Given the description of an element on the screen output the (x, y) to click on. 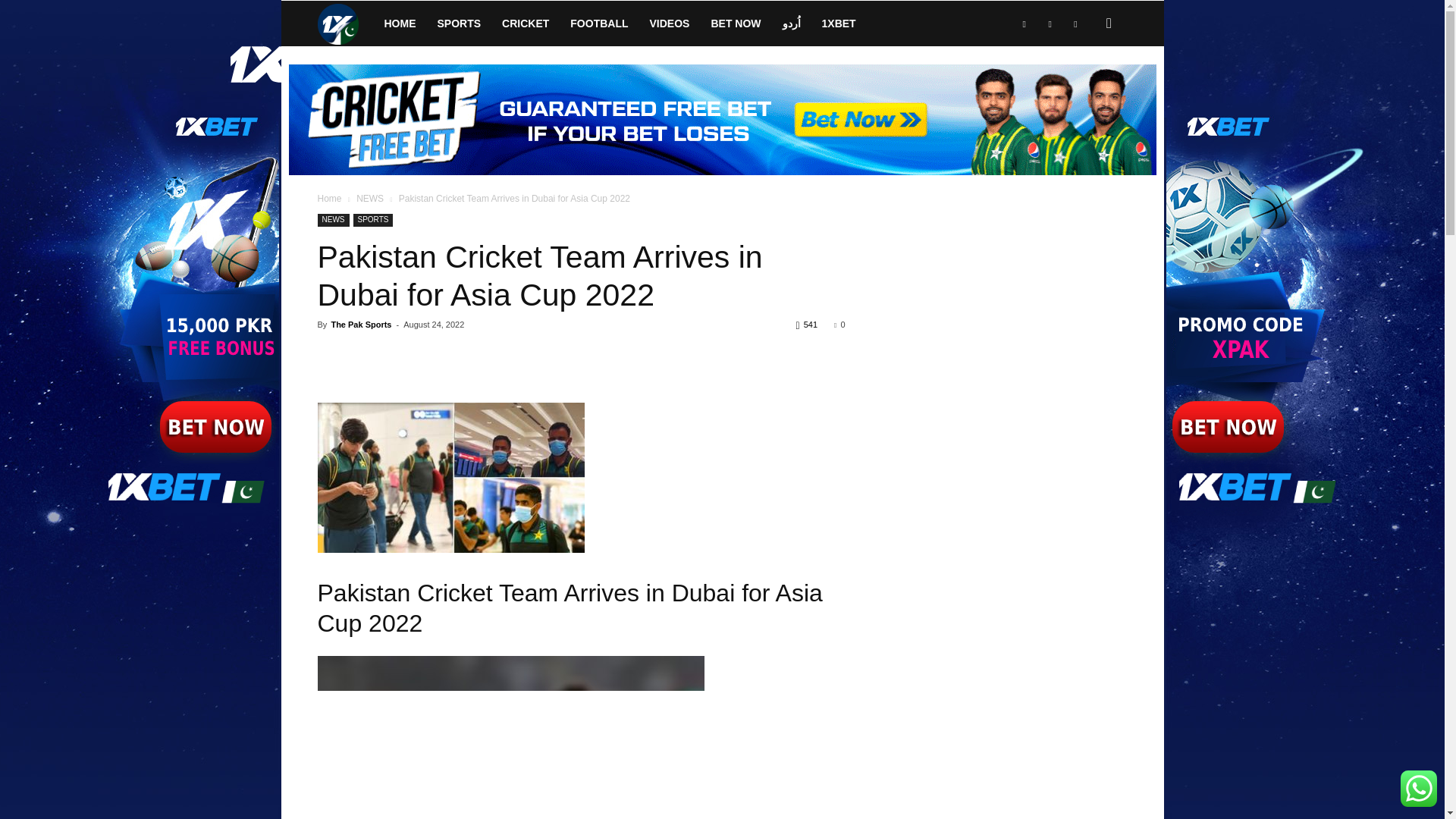
HOME (399, 22)
NEWS (370, 198)
SPORTS (459, 22)
Sports News (337, 23)
BET NOW (735, 22)
FOOTBALL (599, 22)
Pak Sports (344, 23)
Home (328, 198)
View all posts in NEWS (370, 198)
CRICKET (525, 22)
